Given the description of an element on the screen output the (x, y) to click on. 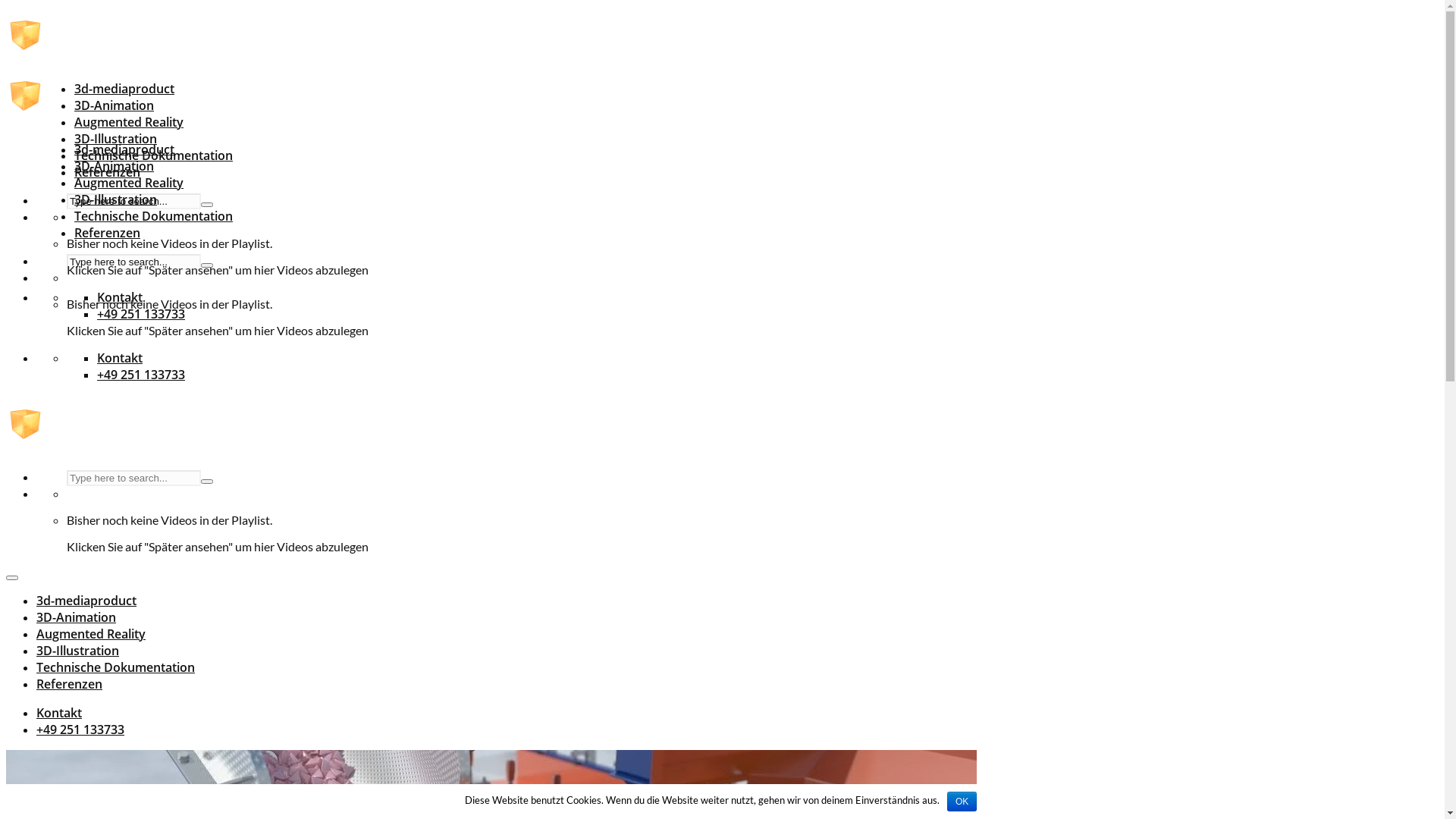
+49 251 133733 Element type: text (141, 374)
Technische Dokumentation Element type: text (153, 215)
Referenzen Element type: text (107, 171)
Augmented Reality Element type: text (128, 182)
3D-Illustration Element type: text (115, 199)
Referenzen Element type: text (69, 683)
3D-Animation Element type: text (76, 616)
Kontakt Element type: text (58, 712)
3D-Animation Element type: text (113, 165)
+49 251 133733 Element type: text (141, 313)
3D-Animation Element type: text (113, 105)
3d-mediaproduct Element type: text (86, 600)
Technische Dokumentation Element type: text (153, 155)
3D-Illustration Element type: text (77, 650)
Kontakt Element type: text (119, 357)
3d-mediaproduct Element type: text (124, 88)
3D-Illustration Element type: text (115, 138)
OK Element type: text (961, 801)
Augmented Reality Element type: text (90, 633)
+49 251 133733 Element type: text (80, 729)
Augmented Reality Element type: text (128, 121)
3d-mediaproduct Element type: text (124, 149)
Kontakt Element type: text (119, 296)
Technische Dokumentation Element type: text (115, 666)
Referenzen Element type: text (107, 232)
